Given the description of an element on the screen output the (x, y) to click on. 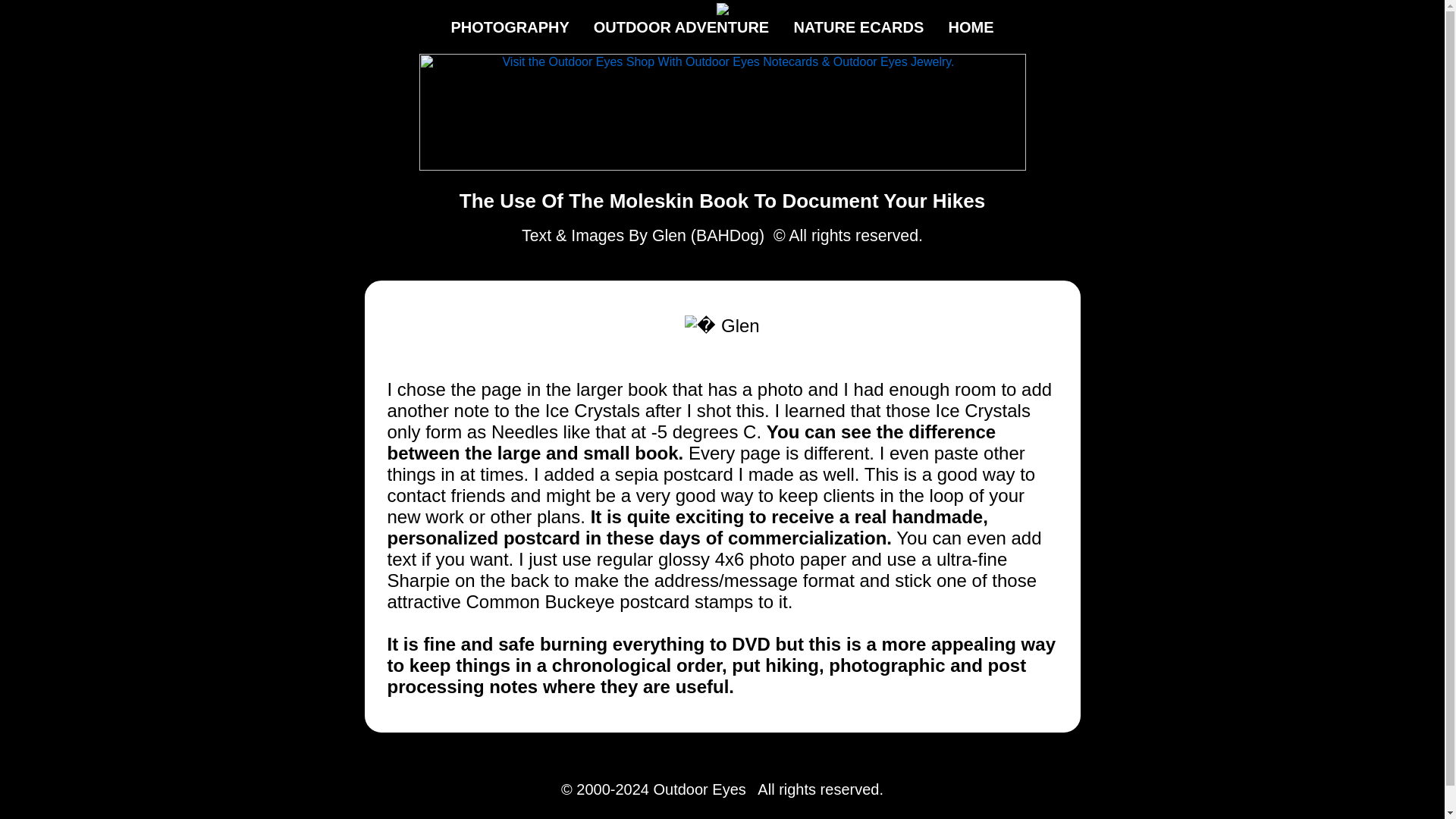
  HOME   (971, 27)
  OUTDOOR ADVENTURE   (680, 27)
  PHOTOGRAPHY   (509, 27)
  NATURE ECARDS   (858, 27)
